Given the description of an element on the screen output the (x, y) to click on. 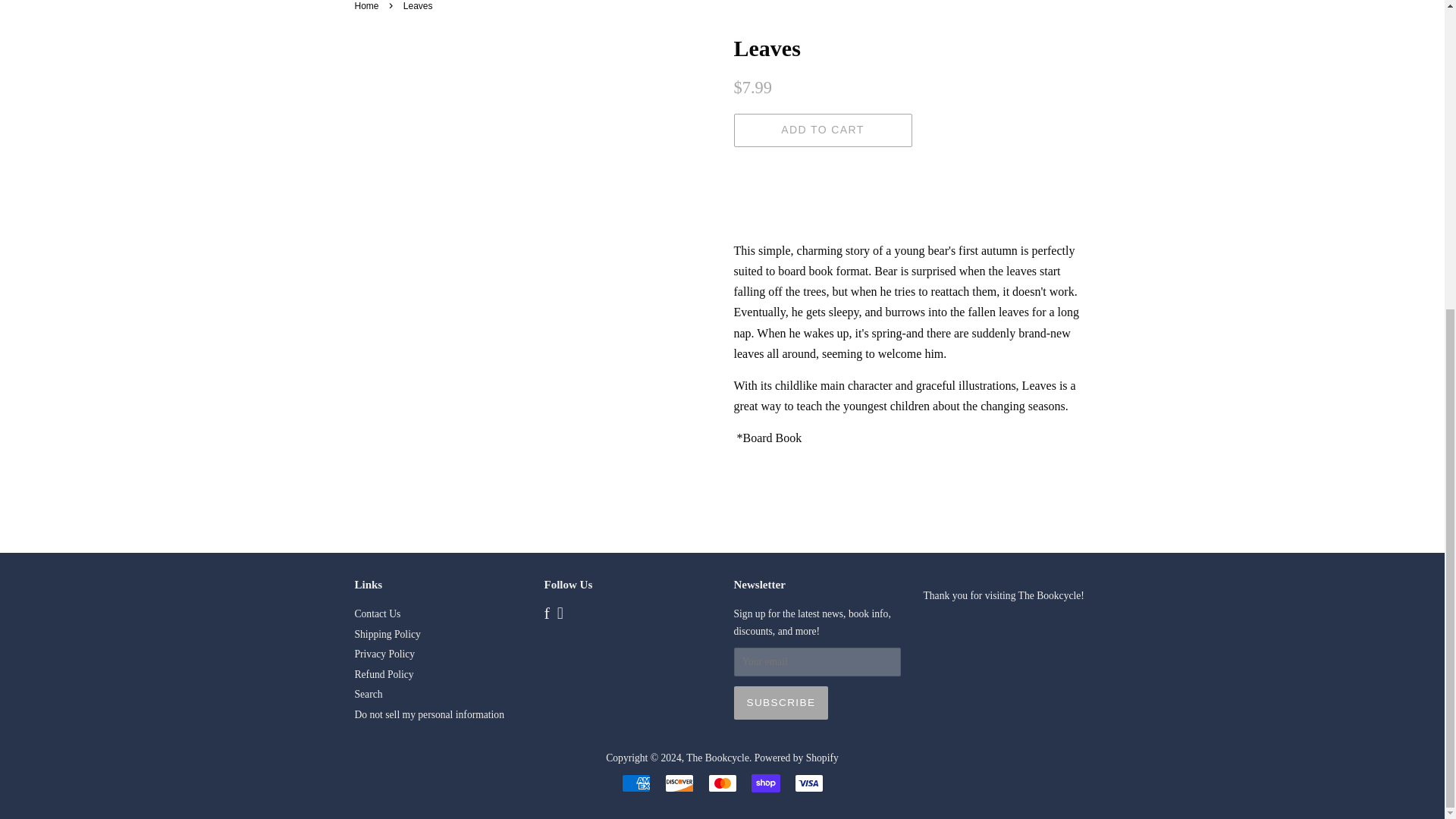
Shop Pay (764, 782)
Mastercard (721, 782)
Subscribe (780, 702)
Discover (678, 782)
American Express (635, 782)
Back to the frontpage (368, 5)
Visa (809, 782)
